Given the description of an element on the screen output the (x, y) to click on. 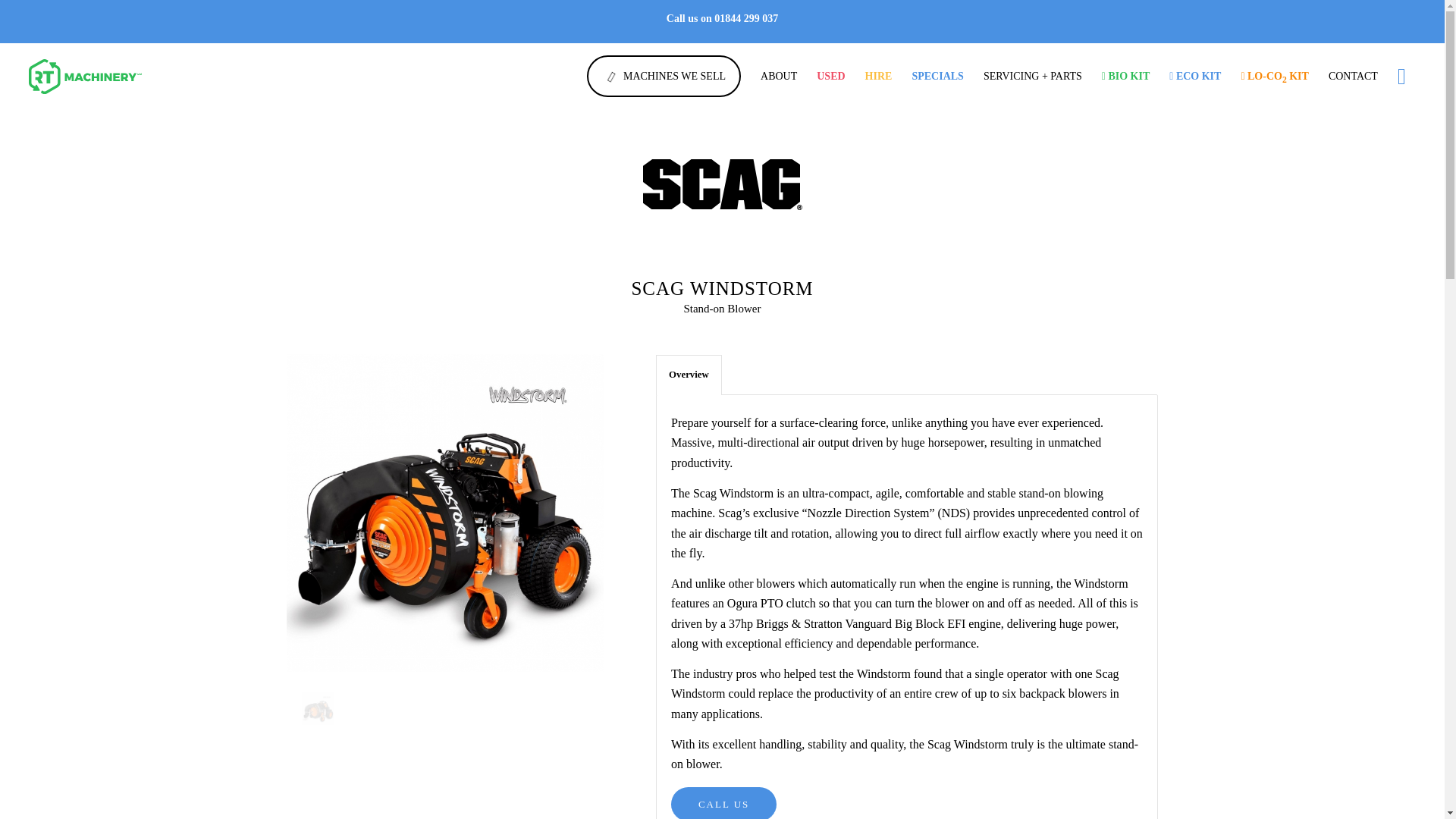
scag-windstorm-stand-on-blower (333, 724)
01844 299 037 (745, 18)
Scag Windstorm Stand-on Blower (318, 709)
scag-colour (721, 183)
Scag Windstorm Stand-on Blower (445, 515)
rt-logo-green (103, 76)
scag-windstorm-stand-on-blower (445, 512)
rt-logo-green (103, 76)
